Given the description of an element on the screen output the (x, y) to click on. 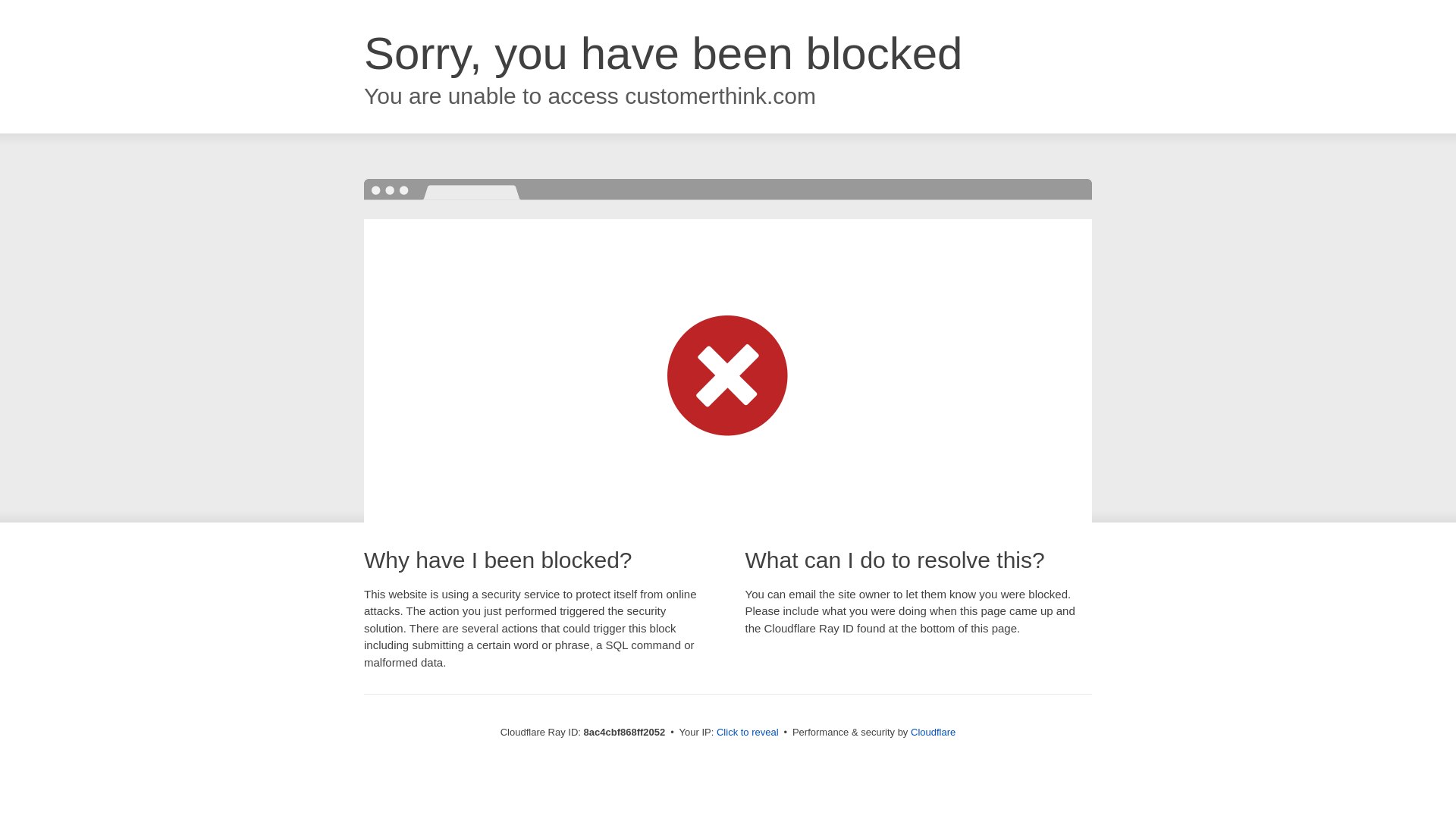
Click to reveal (747, 732)
Cloudflare (933, 731)
